Given the description of an element on the screen output the (x, y) to click on. 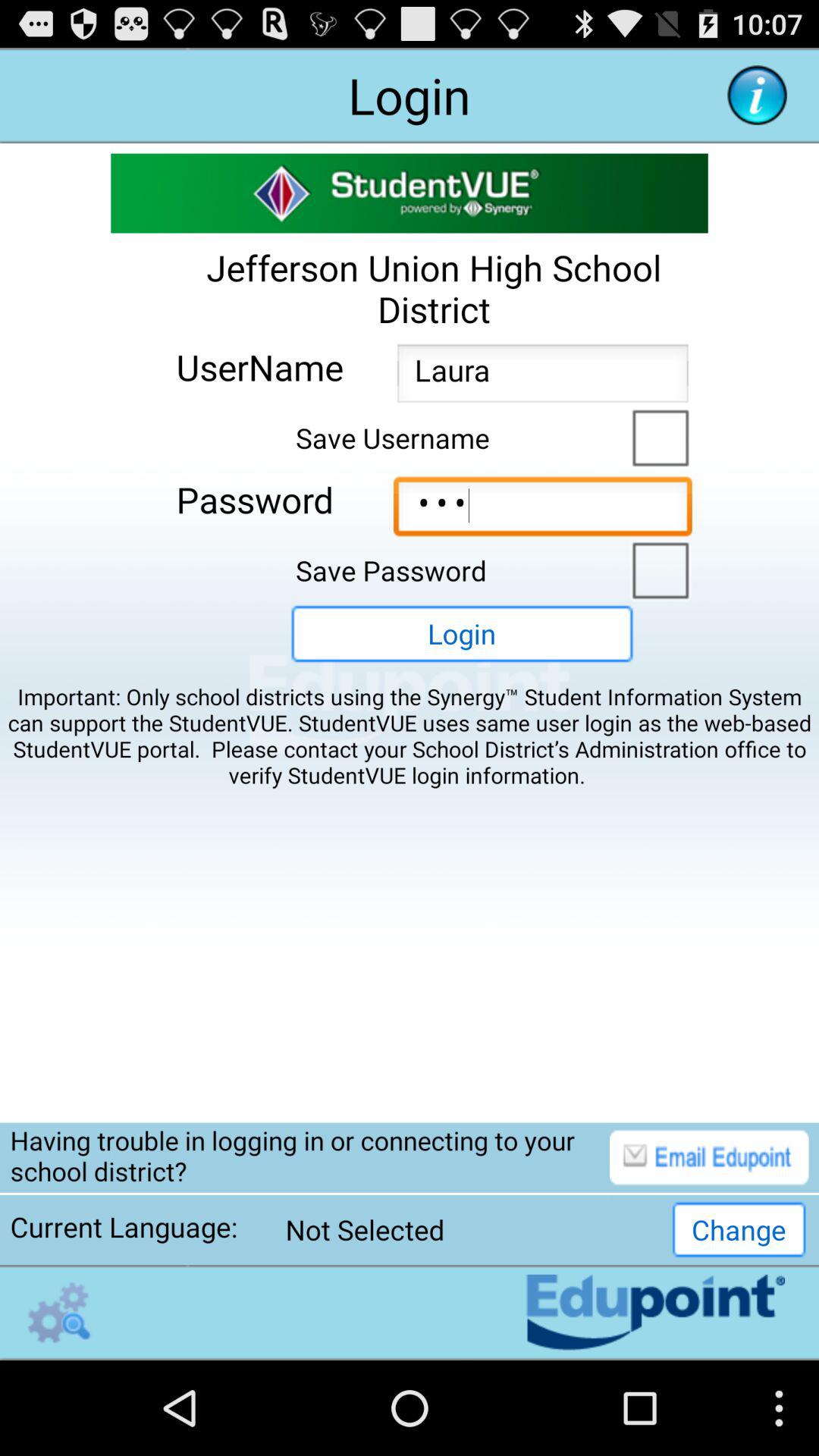
check to save password (657, 569)
